Given the description of an element on the screen output the (x, y) to click on. 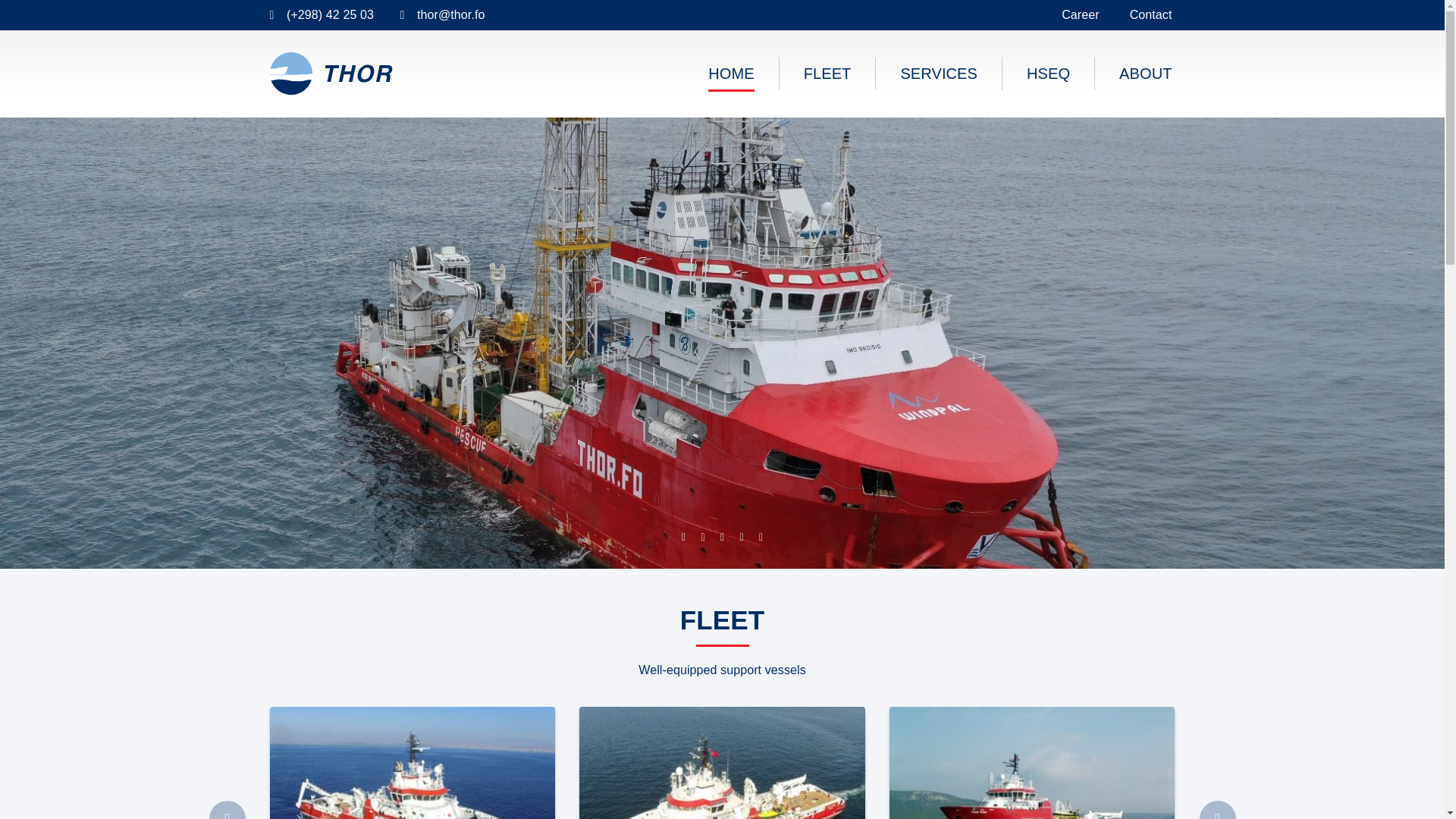
Contact (1150, 14)
ABOUT (1144, 73)
FLEET (827, 73)
SERVICES (939, 73)
HOME (731, 73)
HSEQ (1048, 73)
Career (1080, 14)
